Given the description of an element on the screen output the (x, y) to click on. 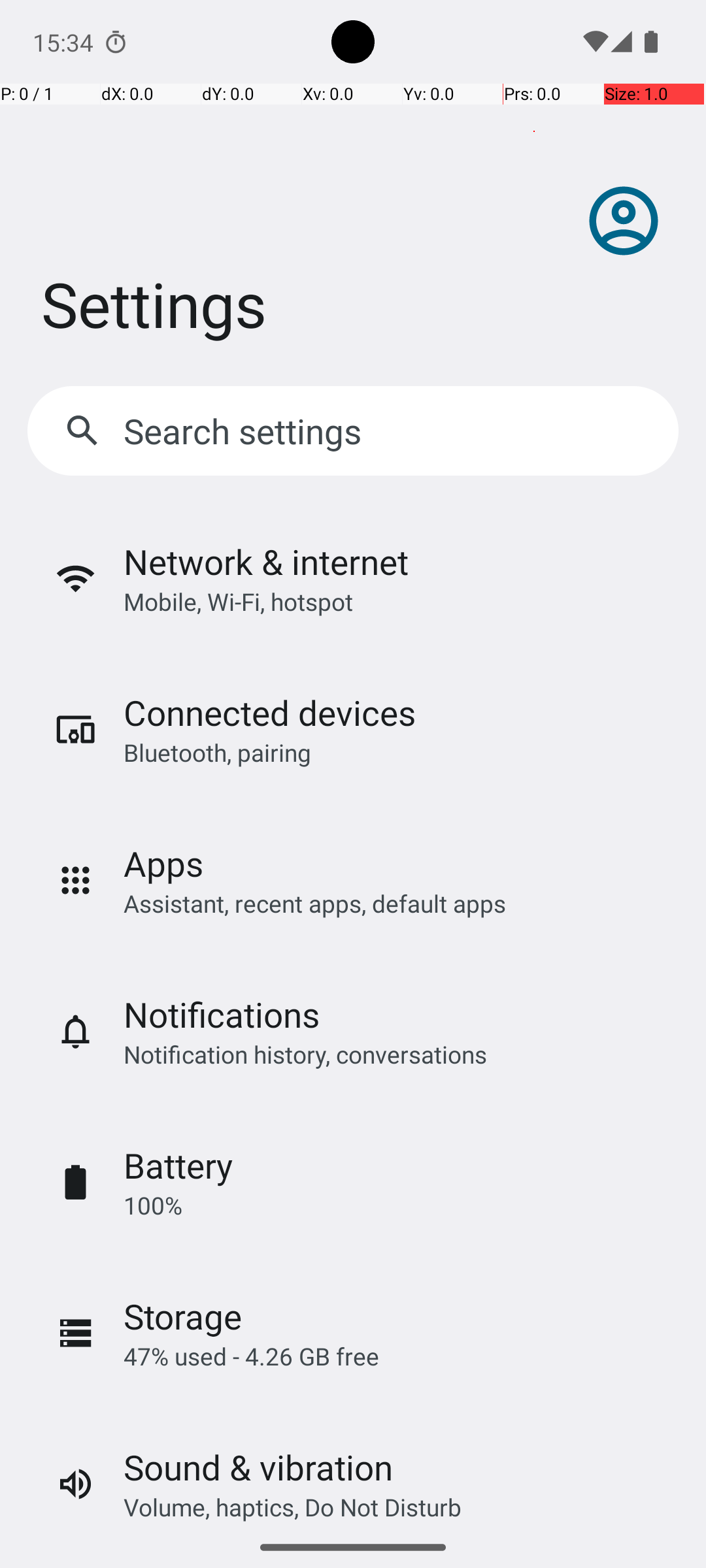
47% used - 4.26 GB free Element type: android.widget.TextView (251, 1355)
